Given the description of an element on the screen output the (x, y) to click on. 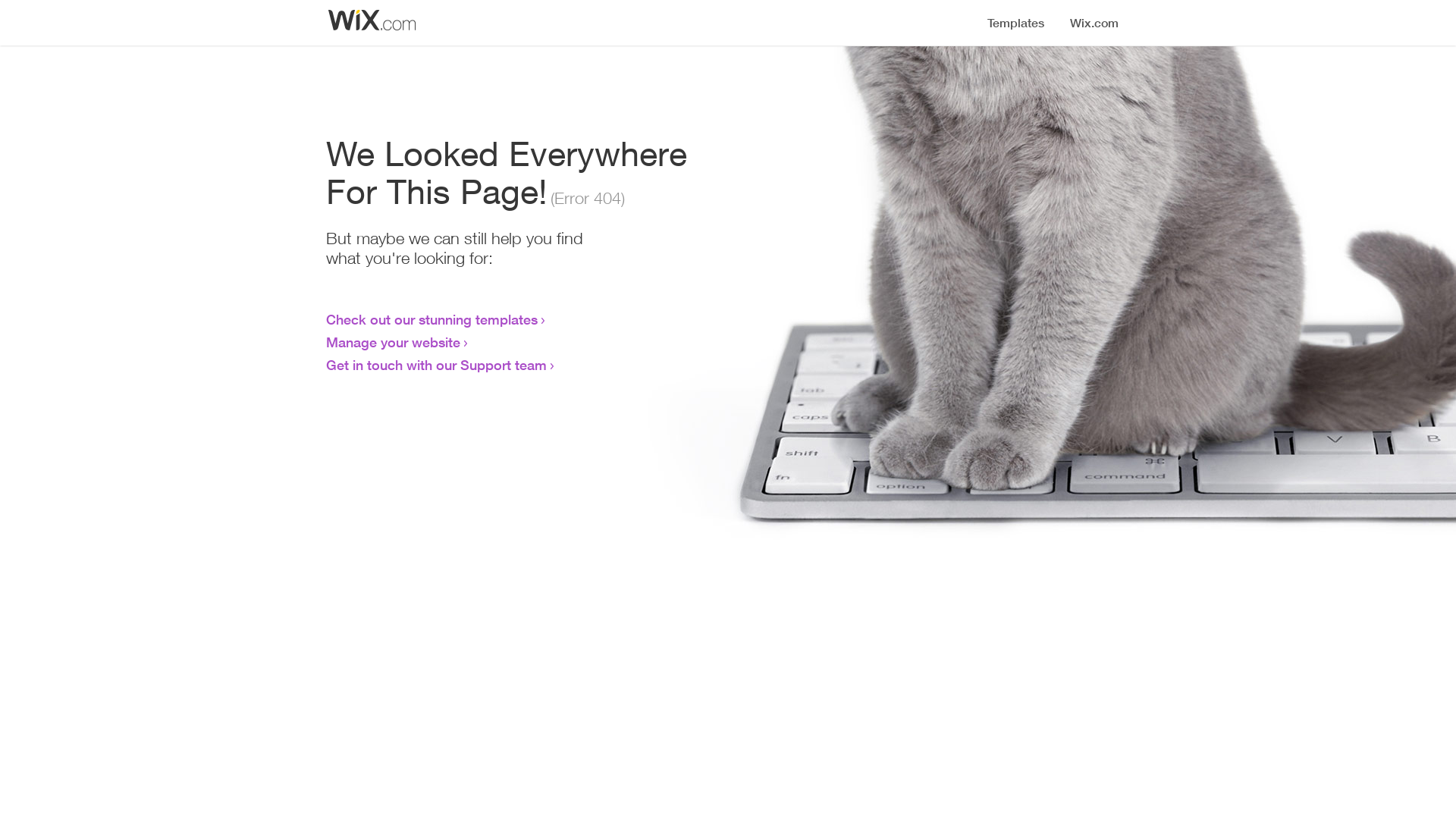
Check out our stunning templates Element type: text (431, 318)
Manage your website Element type: text (393, 341)
Get in touch with our Support team Element type: text (436, 364)
